Given the description of an element on the screen output the (x, y) to click on. 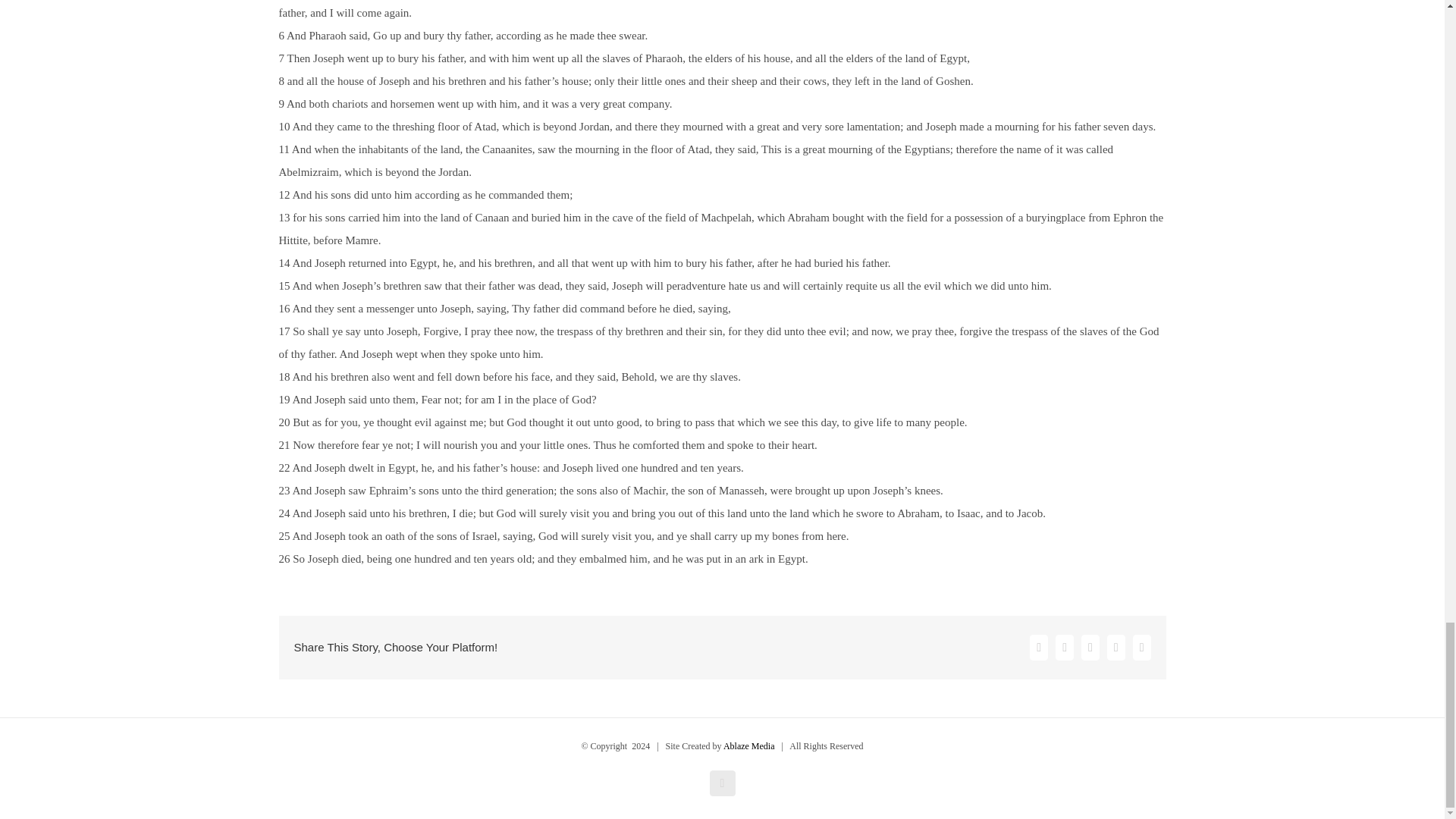
Ablaze Media (748, 746)
YouTube (722, 783)
